Given the description of an element on the screen output the (x, y) to click on. 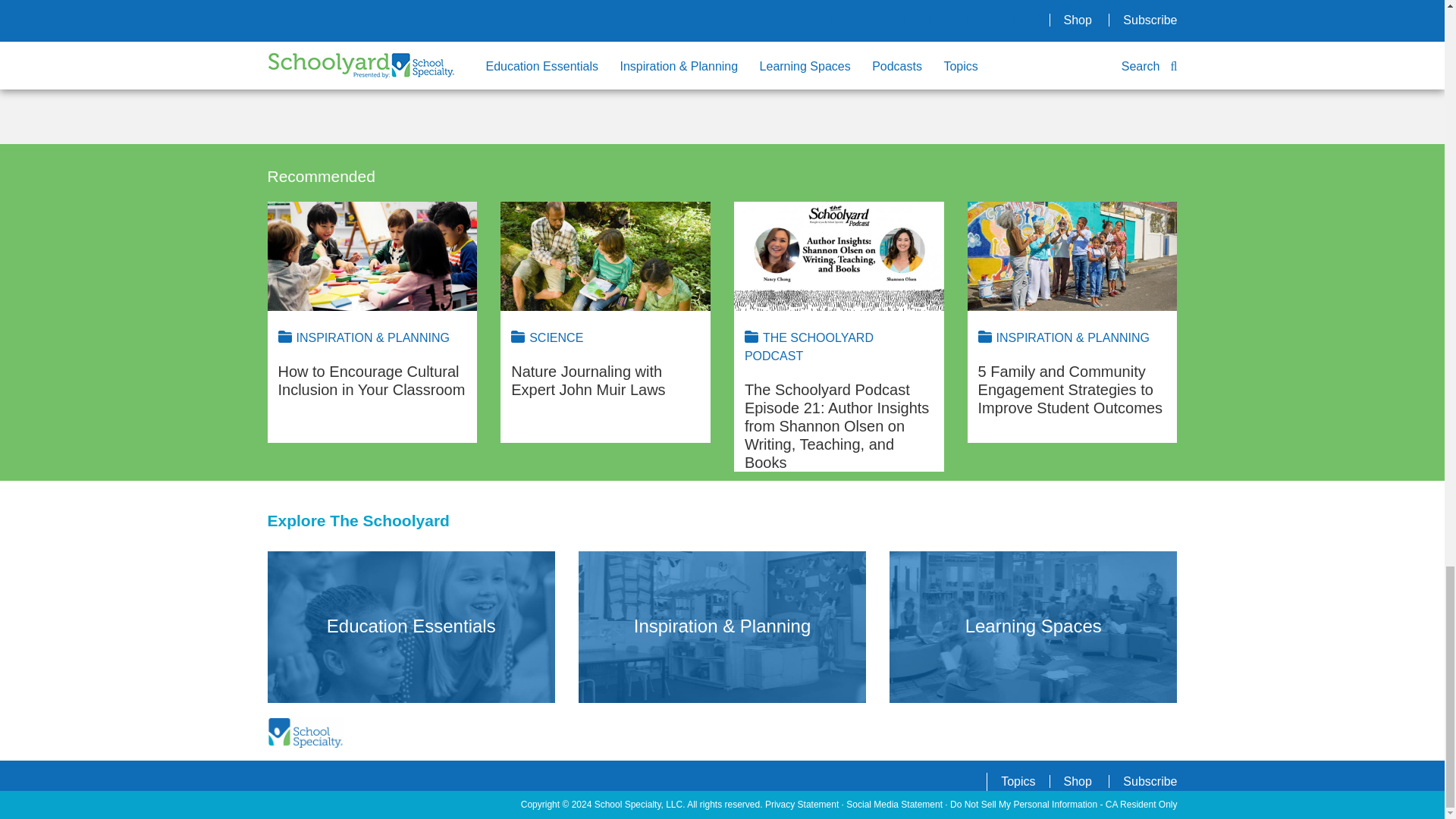
Post Comment (355, 5)
Learn how your comment data is processed (598, 82)
Post Comment (355, 5)
How to Encourage Cultural Inclusion in Your Classroom (371, 256)
Nature Journaling with Expert John Muir Laws (605, 256)
